Given the description of an element on the screen output the (x, y) to click on. 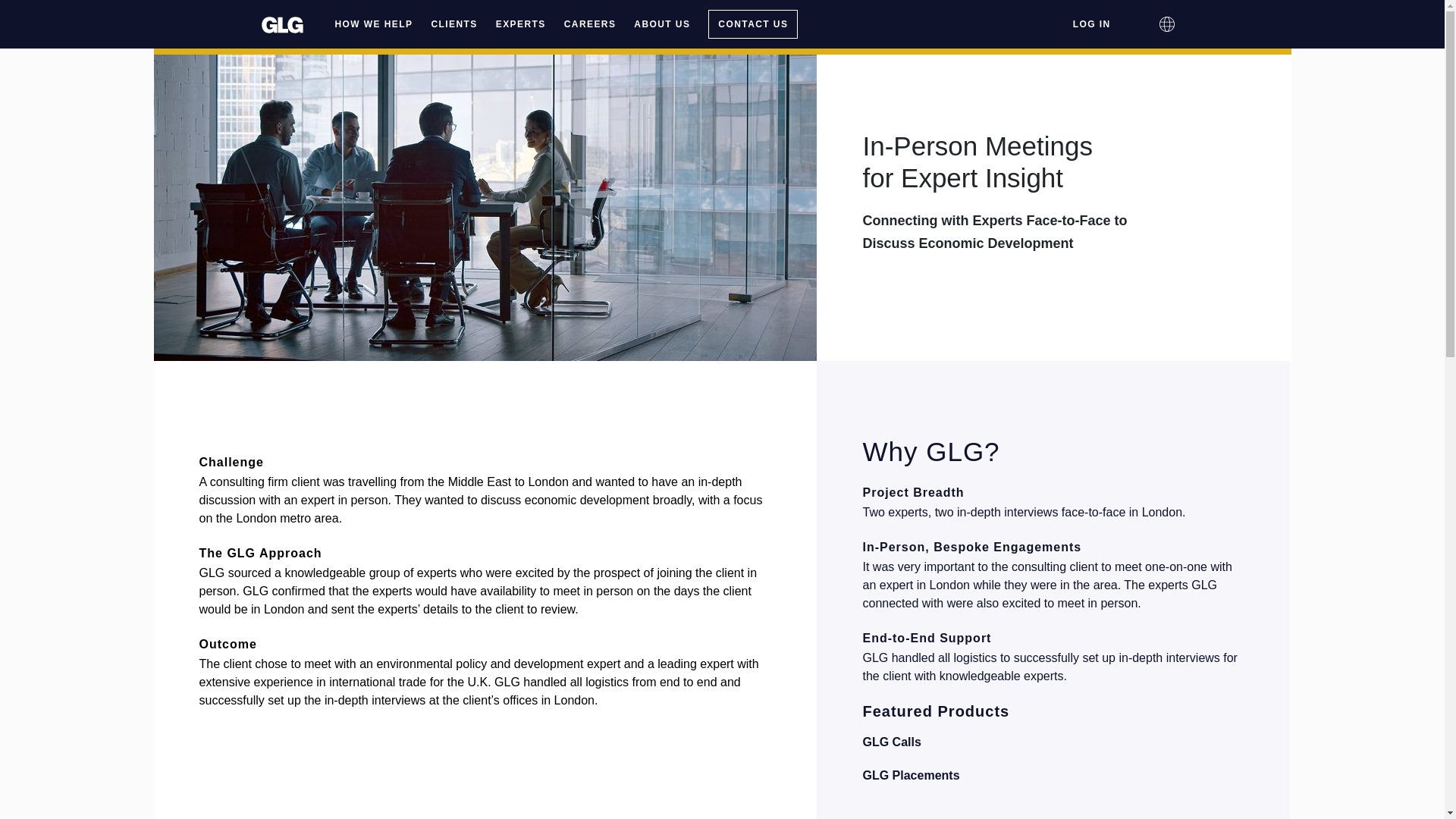
EXPERTS (520, 23)
CLIENTS (454, 23)
HOW WE HELP (374, 23)
CAREERS (590, 23)
